Given the description of an element on the screen output the (x, y) to click on. 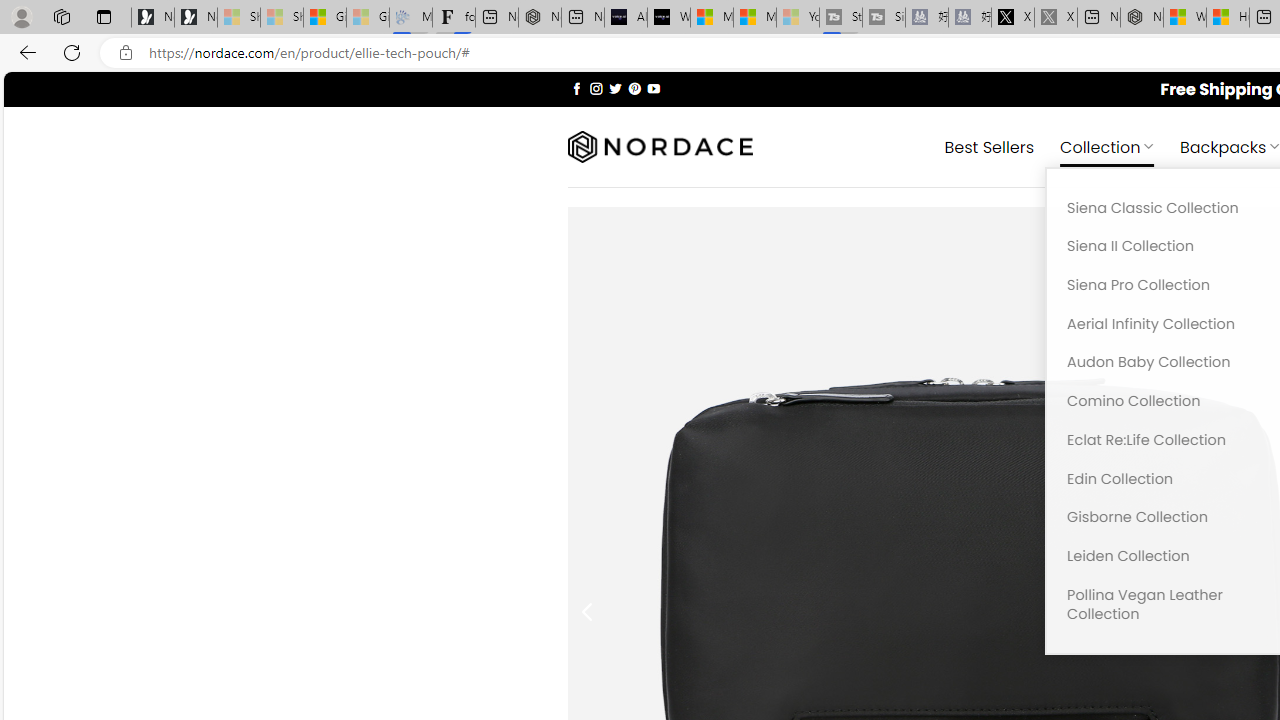
Huge shark washes ashore at New York City beach | Watch (1228, 17)
Wildlife - MSN (1184, 17)
Follow on Pinterest (634, 88)
Personal Profile (21, 16)
Workspaces (61, 16)
View site information (125, 53)
Nordace (659, 147)
Microsoft Start Sports (712, 17)
Tab actions menu (104, 16)
